Given the description of an element on the screen output the (x, y) to click on. 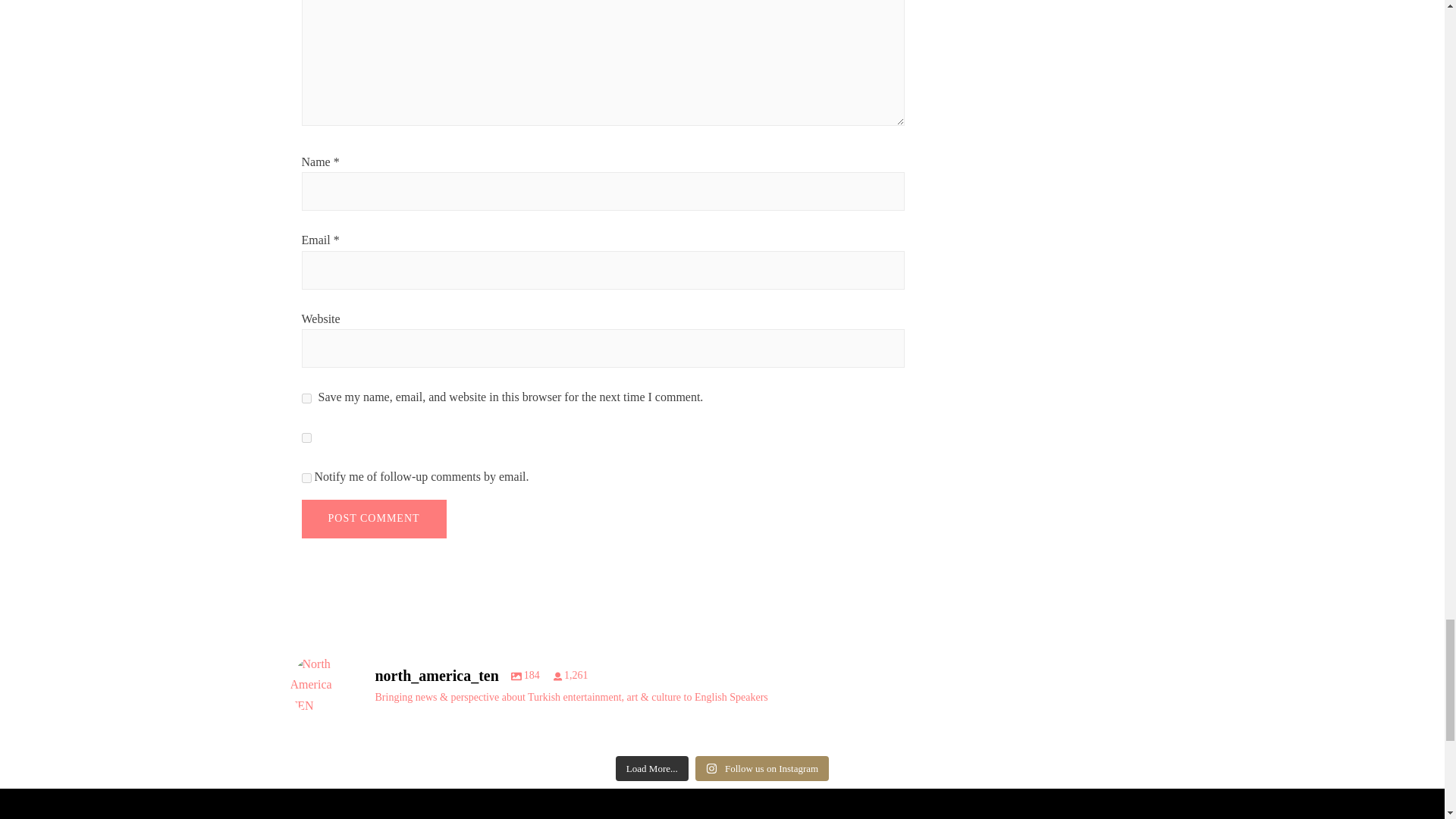
subscribe (306, 478)
yes (306, 438)
yes (306, 398)
Post Comment (373, 518)
